Given the description of an element on the screen output the (x, y) to click on. 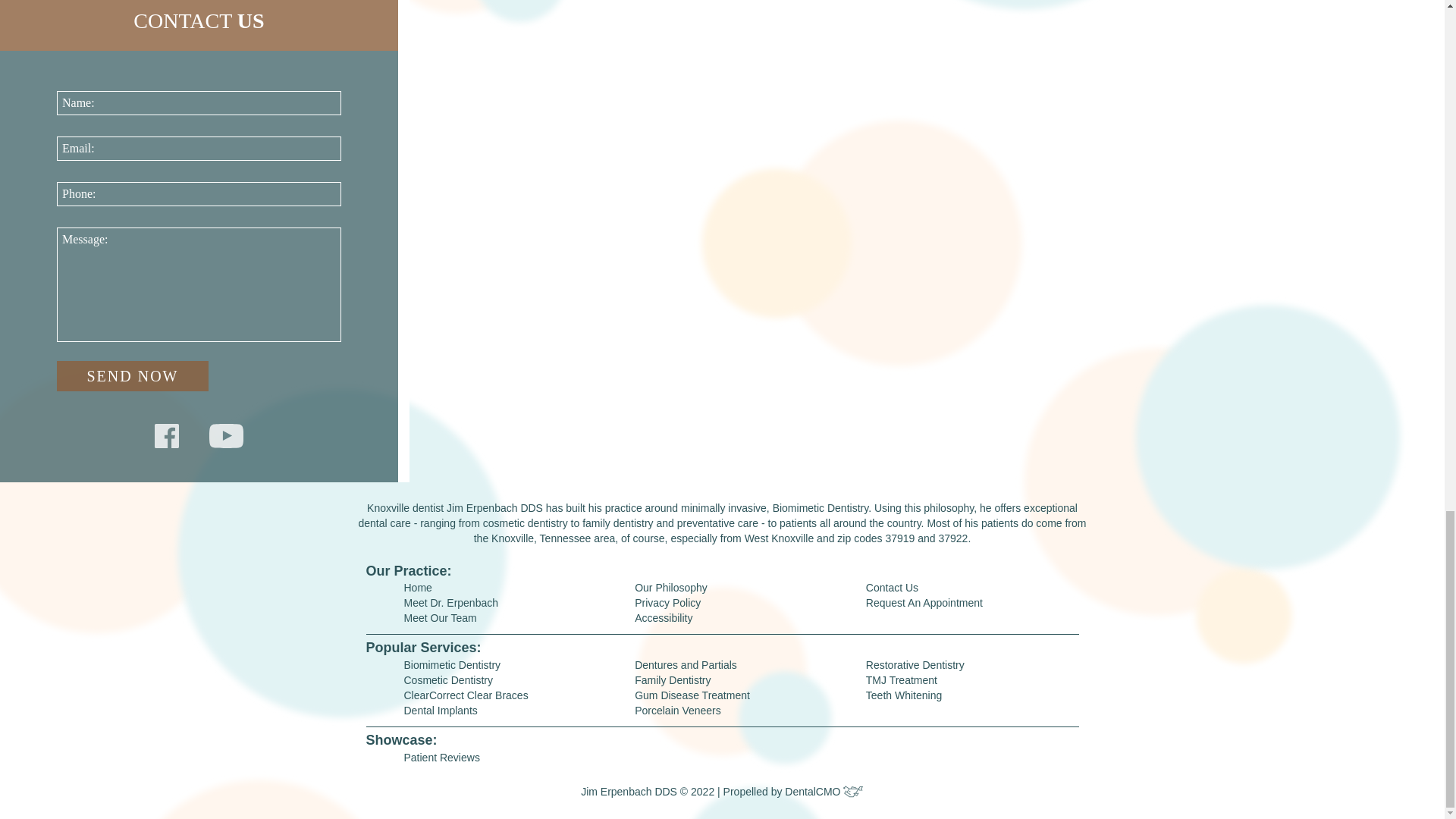
Send Now (132, 376)
